Given the description of an element on the screen output the (x, y) to click on. 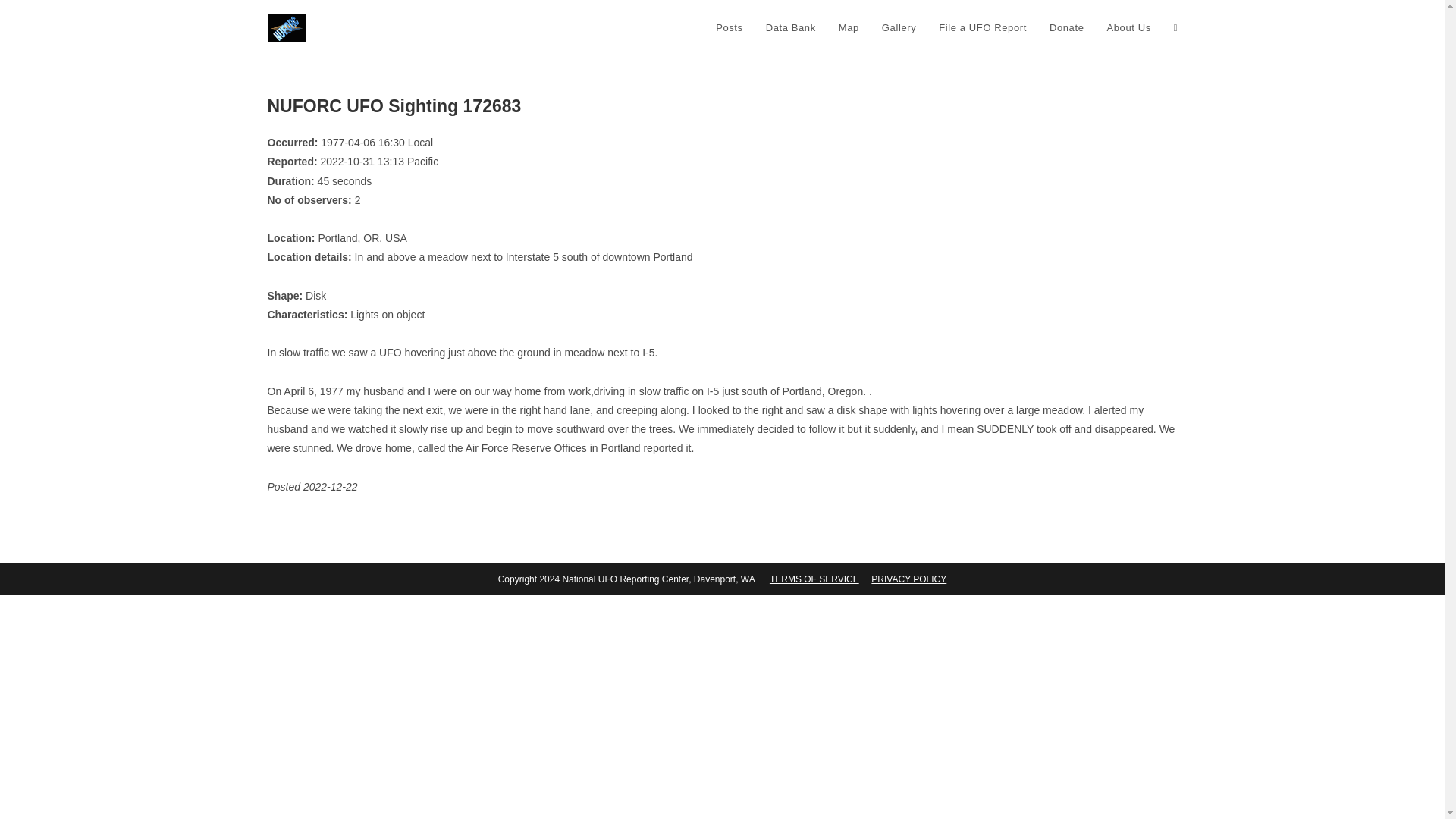
Data Bank (790, 28)
PRIVACY POLICY (908, 579)
About Us (1127, 28)
TERMS OF SERVICE (814, 579)
Gallery (898, 28)
Donate (1067, 28)
File a UFO Report (982, 28)
Posts (729, 28)
